Given the description of an element on the screen output the (x, y) to click on. 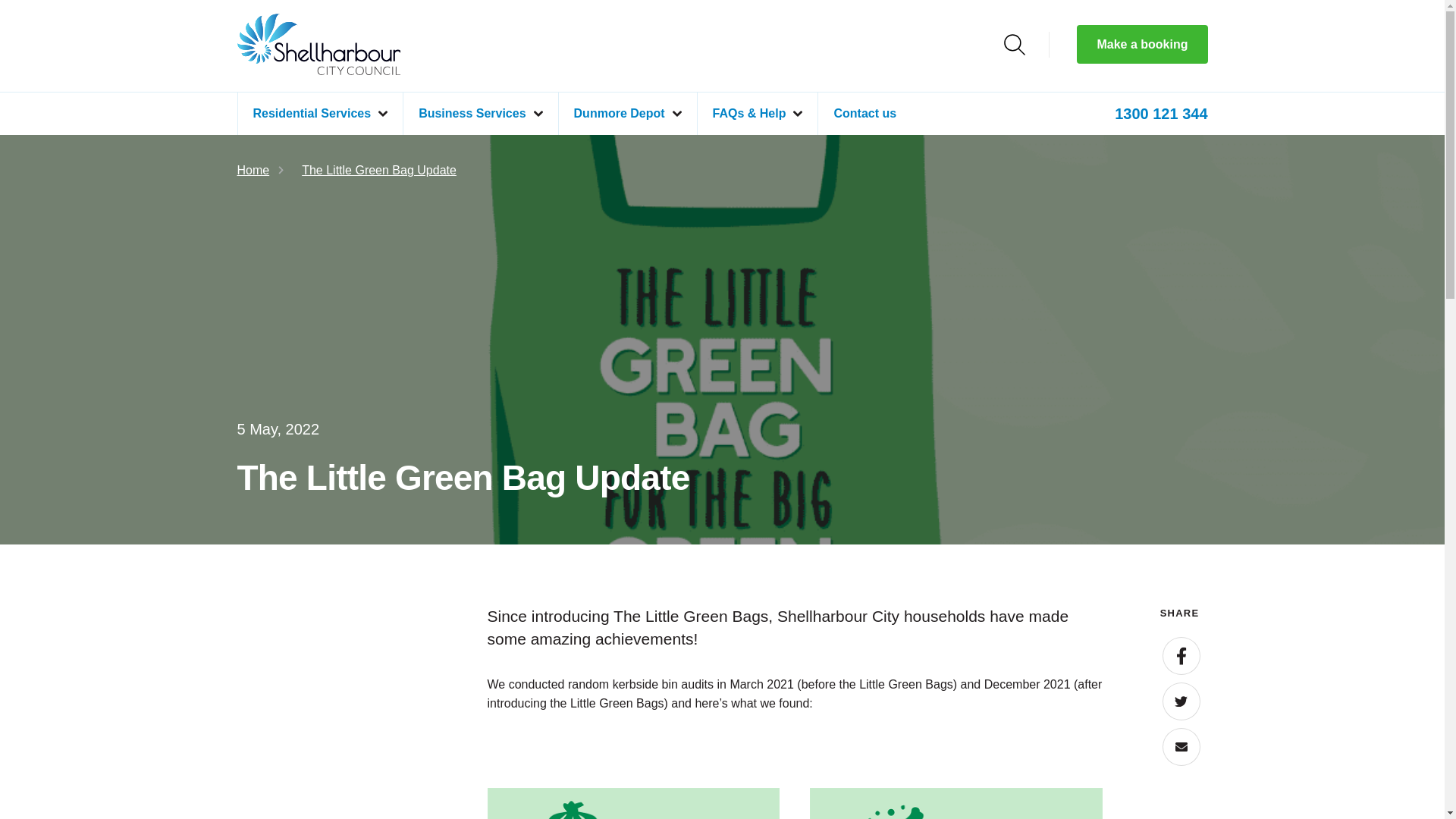
Open Search (1014, 44)
Make a booking (1142, 44)
Business Services (480, 113)
FacebookInstagramLinkedInTwitterYouTube (113, 56)
Dunmore Depot (627, 113)
Residential Services (319, 113)
